Given the description of an element on the screen output the (x, y) to click on. 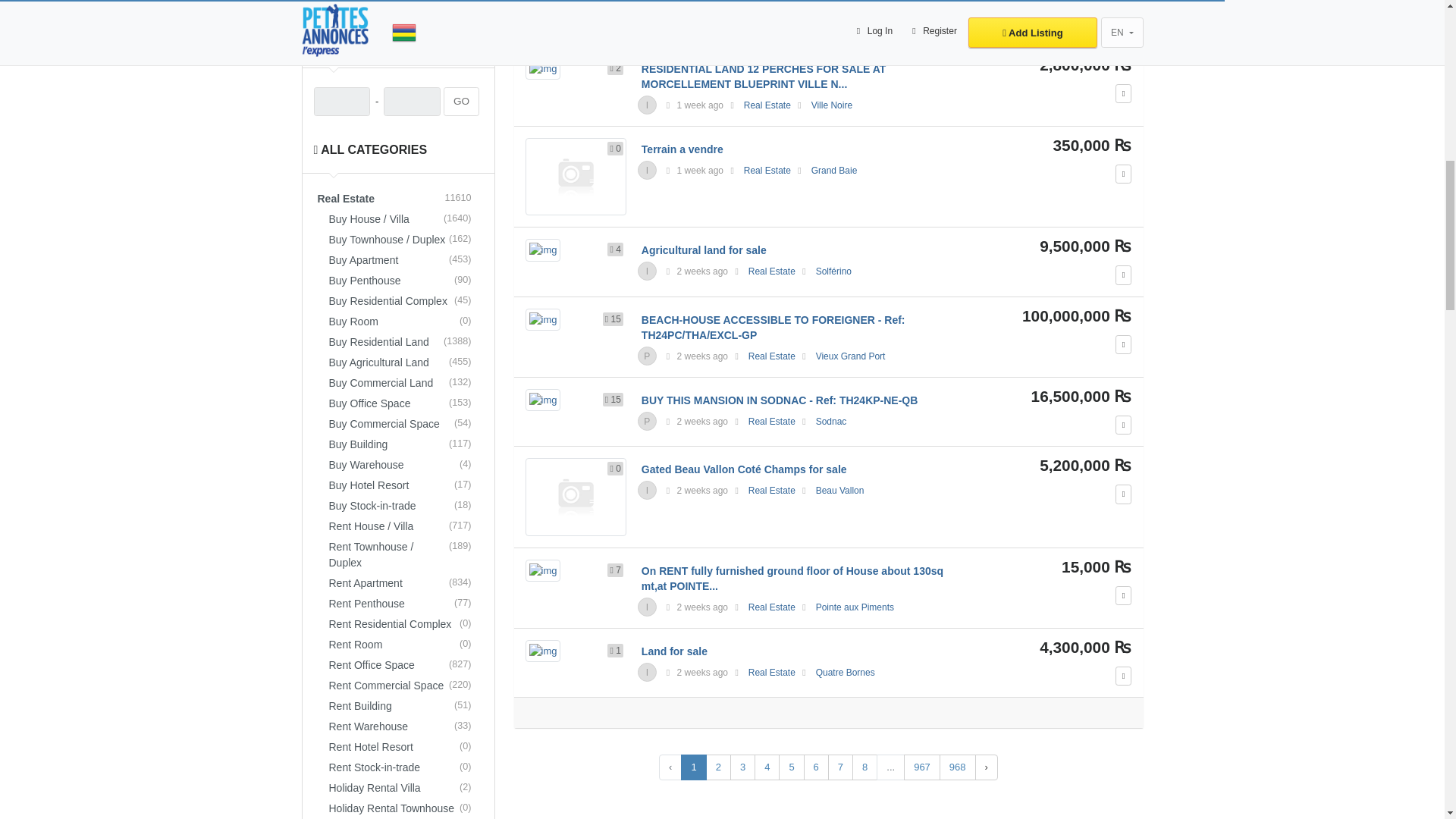
Buy Office Space (402, 403)
Buy Commercial Land (402, 383)
Real Estate (398, 199)
Buy Room (402, 322)
Buy Residential Land (402, 342)
Buy Penthouse (402, 281)
Buy Hotel Resort (402, 485)
Buy Apartment (402, 260)
Buy Warehouse (402, 465)
Buy Residential Complex (402, 301)
Buy Building (402, 444)
Buy Agricultural Land (402, 362)
Buy Stock-in-trade (402, 506)
Buy Commercial Space (402, 424)
